Given the description of an element on the screen output the (x, y) to click on. 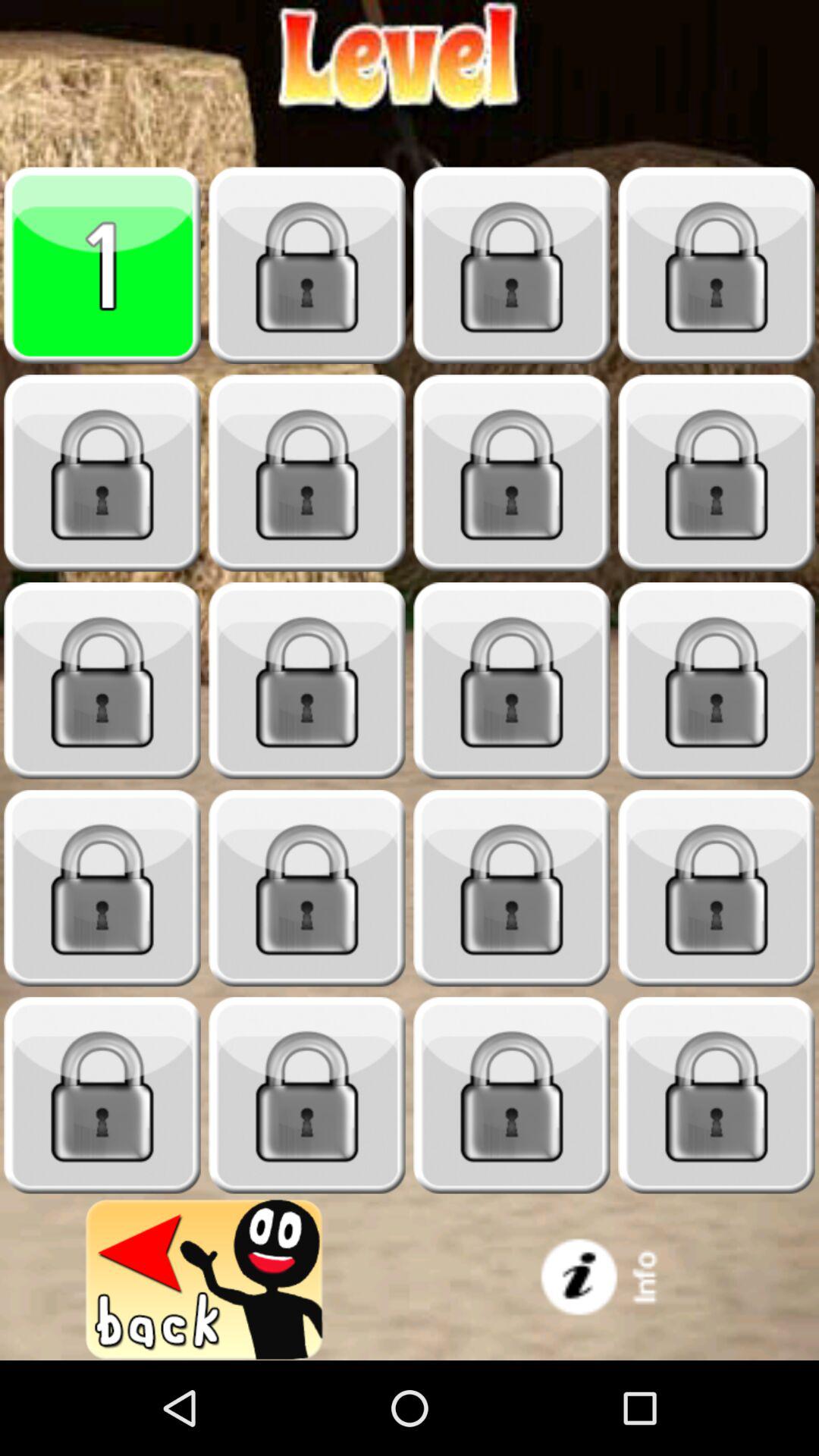
game lock level (306, 887)
